Given the description of an element on the screen output the (x, y) to click on. 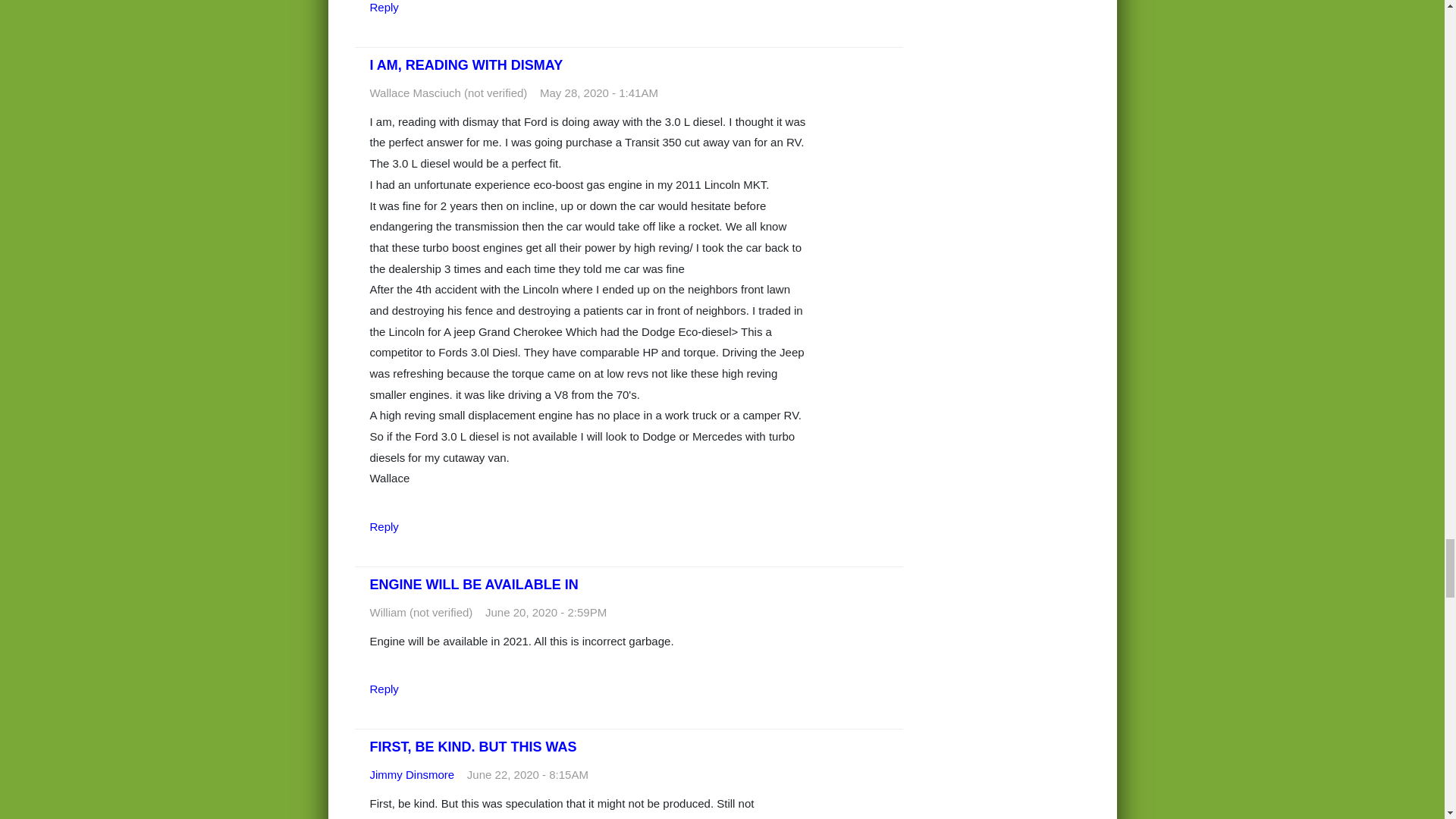
View user profile. (411, 774)
